Given the description of an element on the screen output the (x, y) to click on. 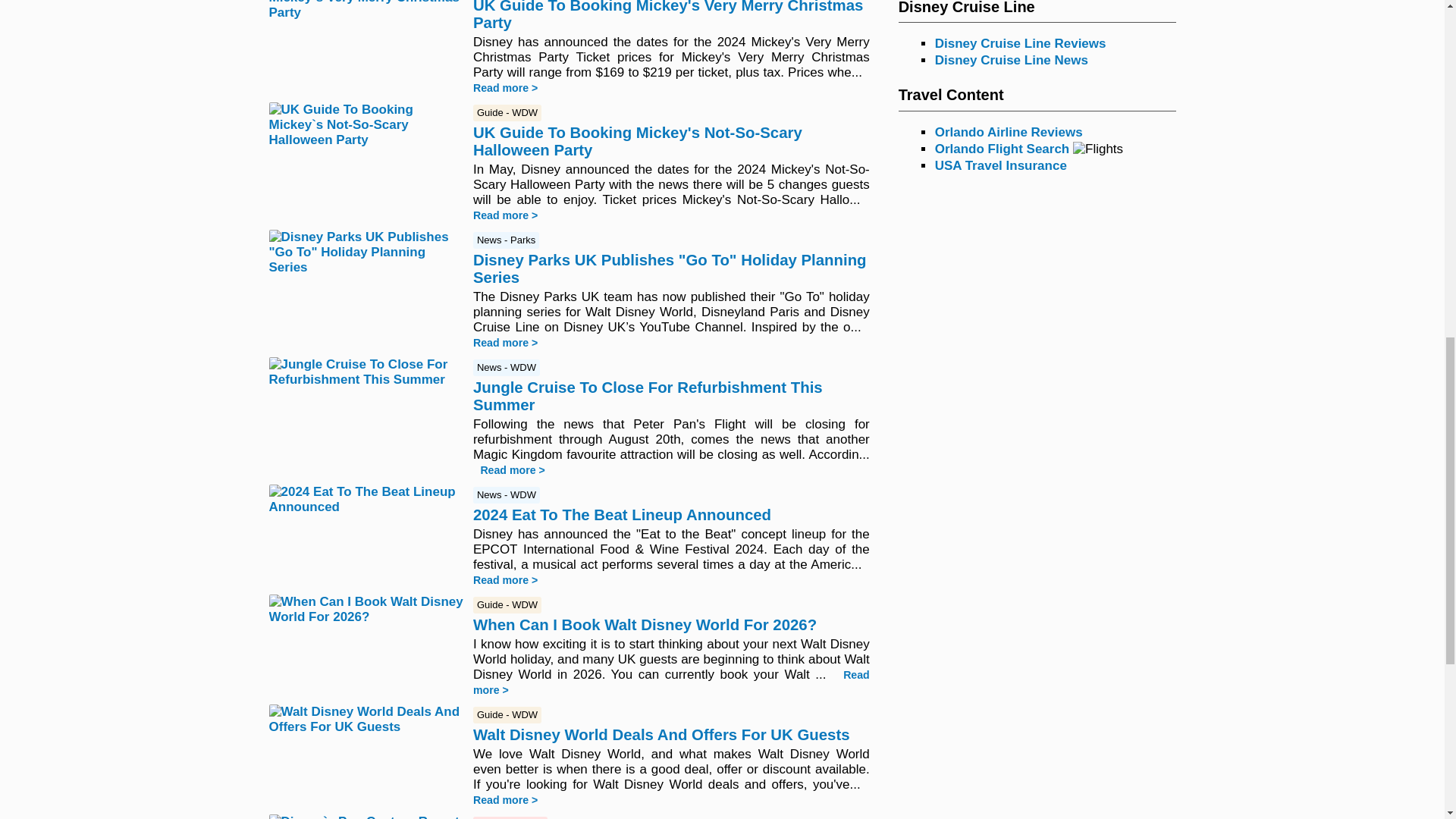
UK Guide To Booking Mickey's Not-So-Scary Halloween Party (637, 142)
UK Guide To Booking Mickey's Very Merry Christmas Party (668, 15)
